Given the description of an element on the screen output the (x, y) to click on. 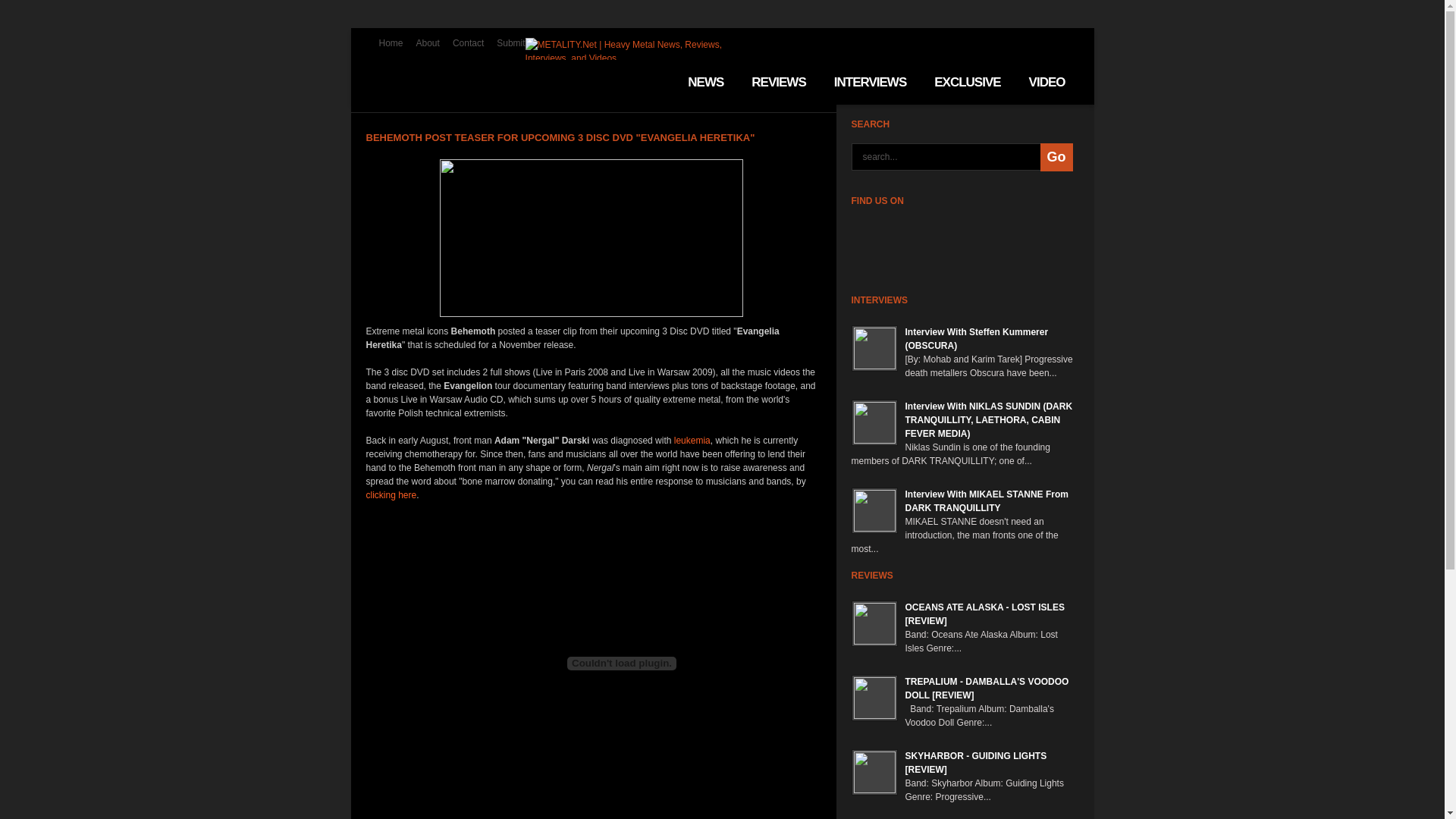
NEWS Element type: text (705, 81)
VIDEO Element type: text (1047, 81)
INTERVIEWS Element type: text (869, 81)
Submit Element type: text (510, 42)
TREPALIUM - DAMBALLA'S VOODOO DOLL [REVIEW] Element type: text (987, 688)
About Element type: text (427, 42)
REVIEWS Element type: text (778, 81)
Home Element type: text (391, 42)
Interview With MIKAEL STANNE From DARK TRANQUILLITY Element type: text (986, 501)
Interview With Steffen Kummerer (OBSCURA) Element type: text (976, 338)
EXCLUSIVE Element type: text (966, 81)
SKYHARBOR - GUIDING LIGHTS [REVIEW] Element type: text (976, 762)
Go Element type: text (1056, 157)
clicking here Element type: text (390, 494)
OCEANS ATE ALASKA - LOST ISLES [REVIEW] Element type: text (984, 614)
leukemia Element type: text (692, 440)
Contact Element type: text (467, 42)
